Given the description of an element on the screen output the (x, y) to click on. 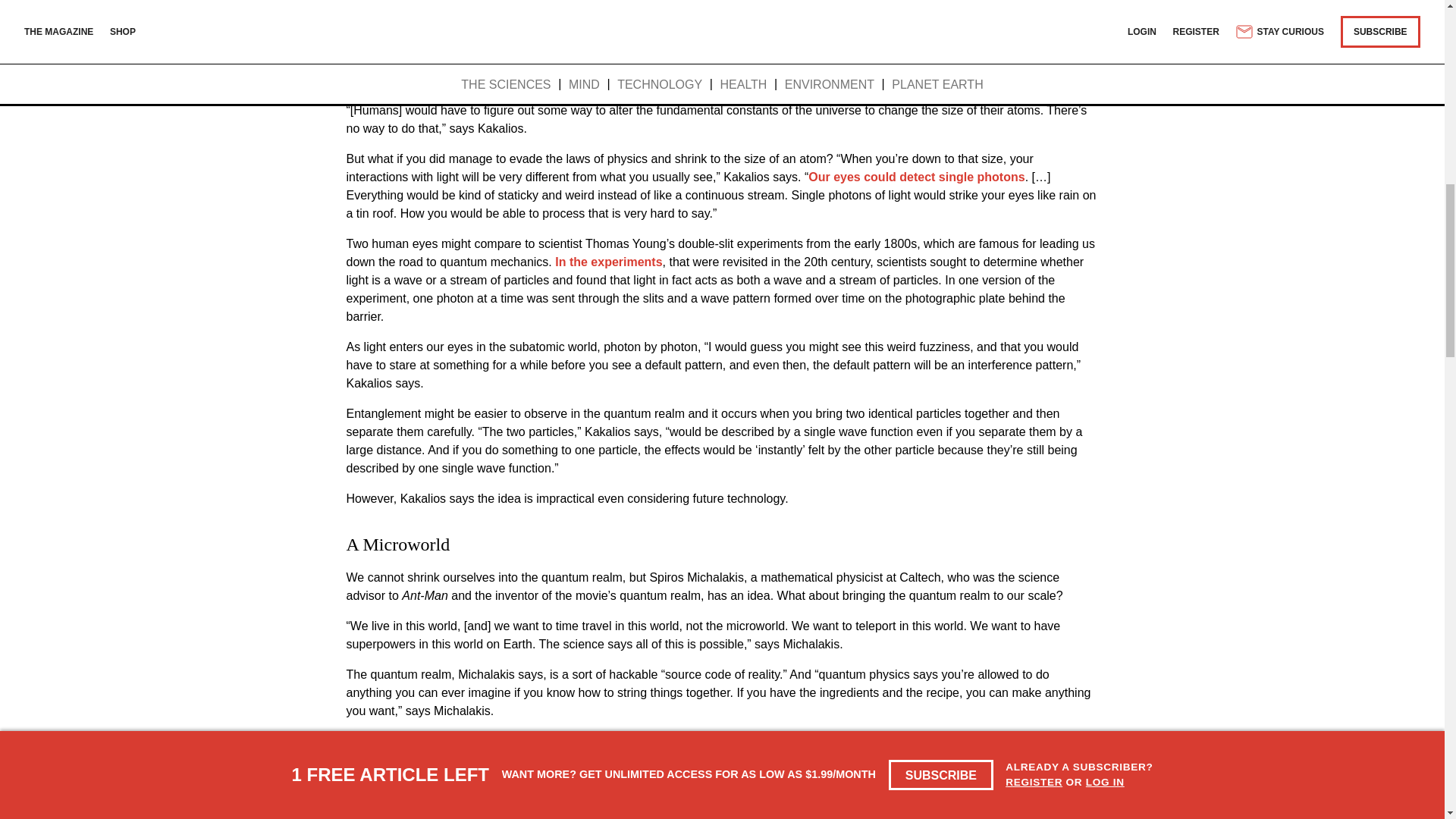
Our eyes could detect single photons (916, 176)
In the experiments (608, 261)
a quantum internet (764, 740)
